Given the description of an element on the screen output the (x, y) to click on. 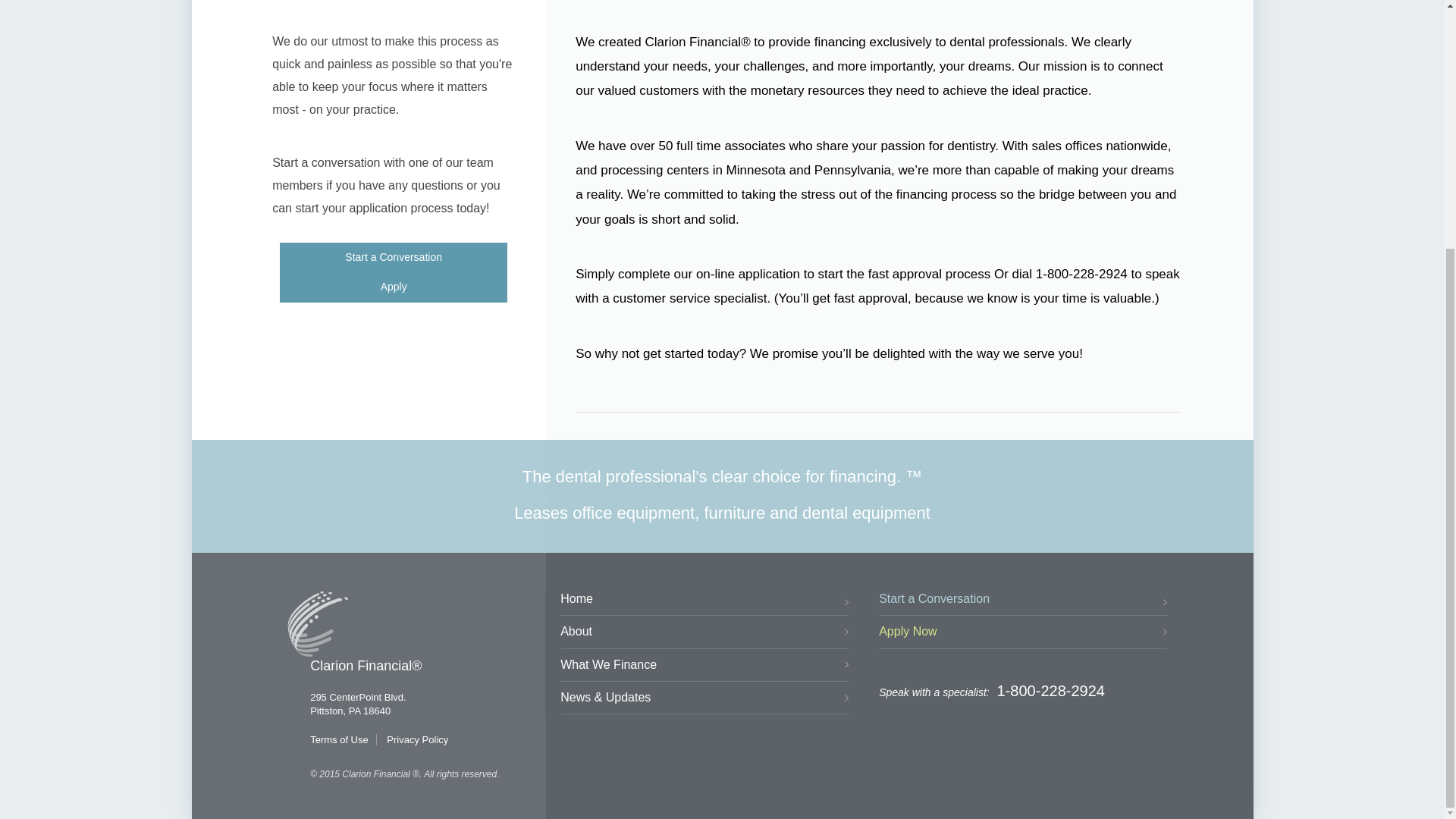
About (704, 631)
What We Finance (704, 665)
Privacy Policy (417, 739)
Apply Now (1023, 631)
Start a Conversation (392, 257)
Start a Conversation (1023, 602)
1-800-228-2924 (1051, 690)
Terms of Use (339, 739)
Home (704, 602)
Apply (392, 286)
